Given the description of an element on the screen output the (x, y) to click on. 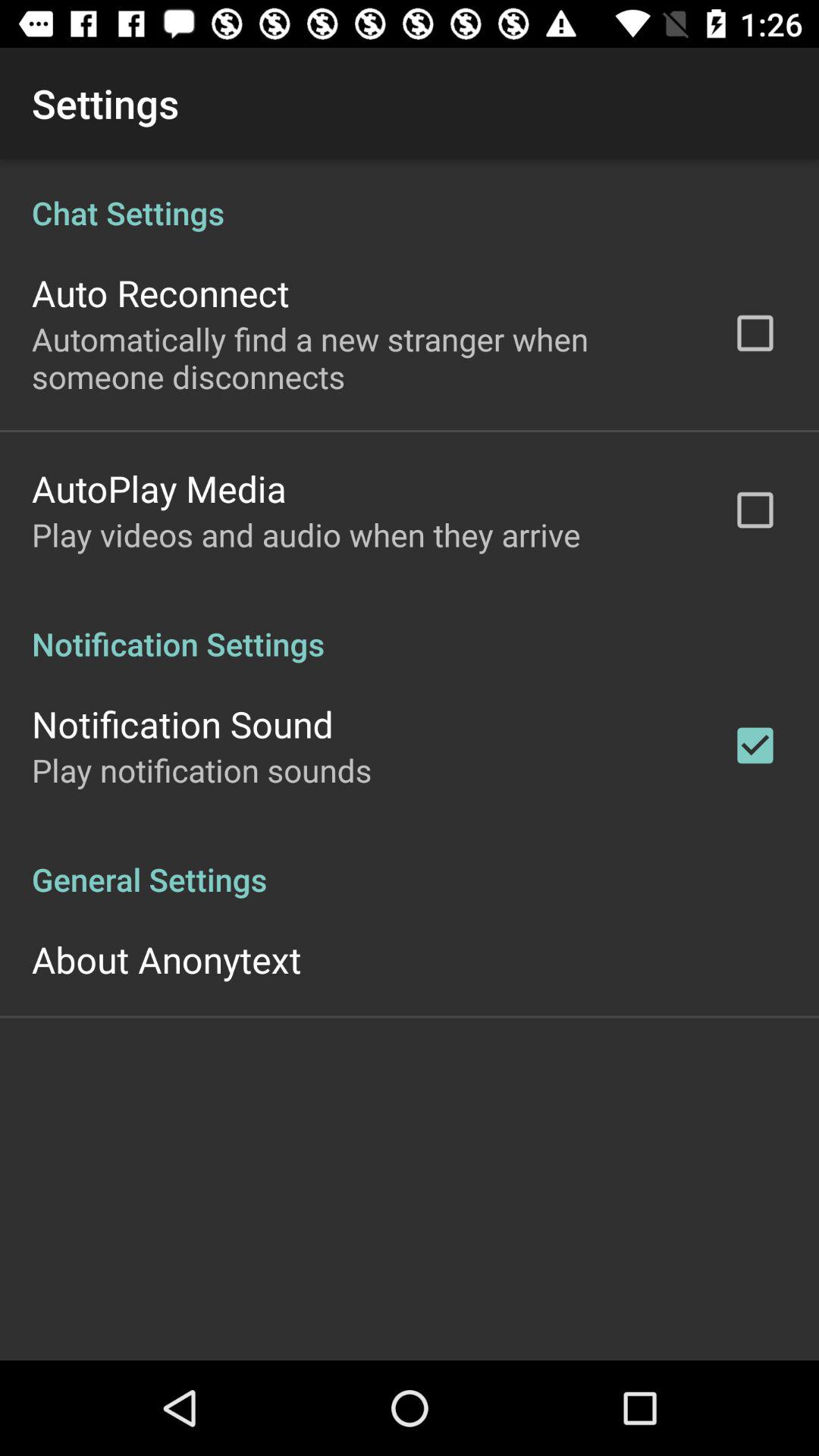
tap icon above the notification sound item (409, 627)
